Given the description of an element on the screen output the (x, y) to click on. 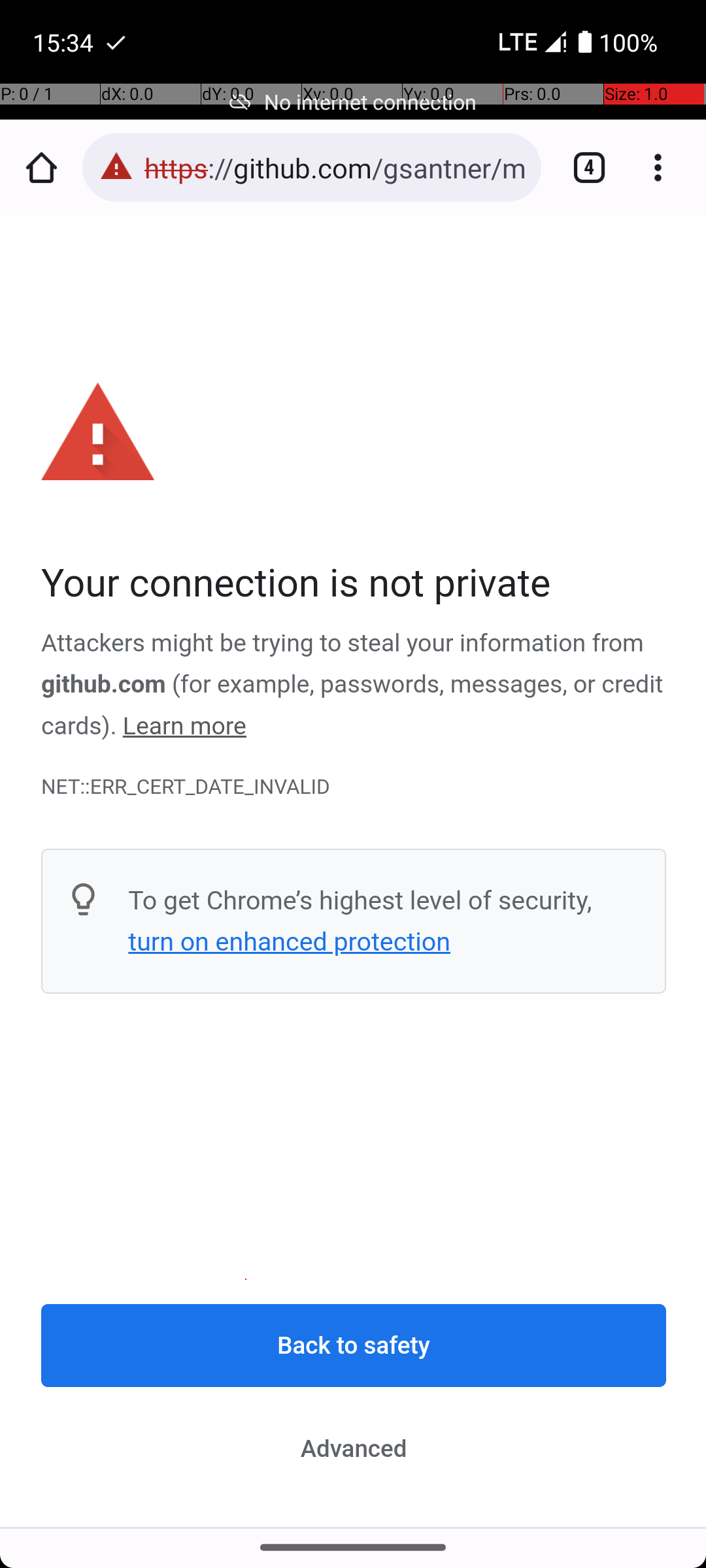
https://github.com/gsantner/markor/discussions Element type: android.widget.EditText (335, 167)
Your connection is not private Element type: android.widget.TextView (354, 583)
Attackers might be trying to steal your information from  Element type: android.widget.TextView (343, 643)
github.com Element type: android.widget.TextView (103, 684)
 (for example, passwords, messages, or credit cards).  Element type: android.widget.TextView (352, 705)
NET::ERR_CERT_DATE_INVALID Element type: android.widget.Button (354, 786)
To get Chrome’s highest level of security,  Element type: android.widget.TextView (359, 899)
turn on enhanced protection Element type: android.view.View (288, 941)
